Given the description of an element on the screen output the (x, y) to click on. 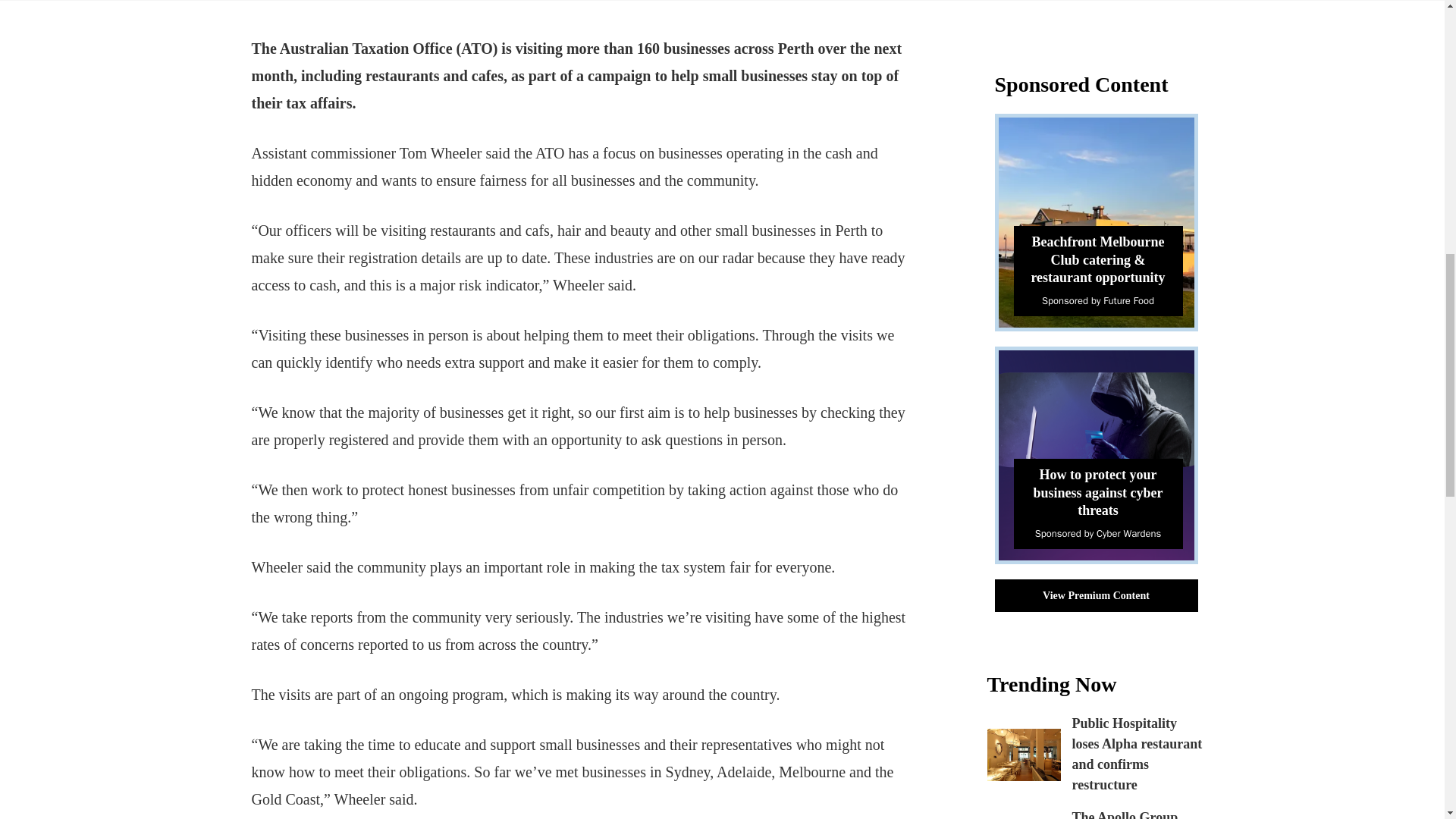
How to protect your business against cyber threats (1096, 491)
The Apollo Group announces 200-seater Surry Hills restaurant (1133, 814)
